Given the description of an element on the screen output the (x, y) to click on. 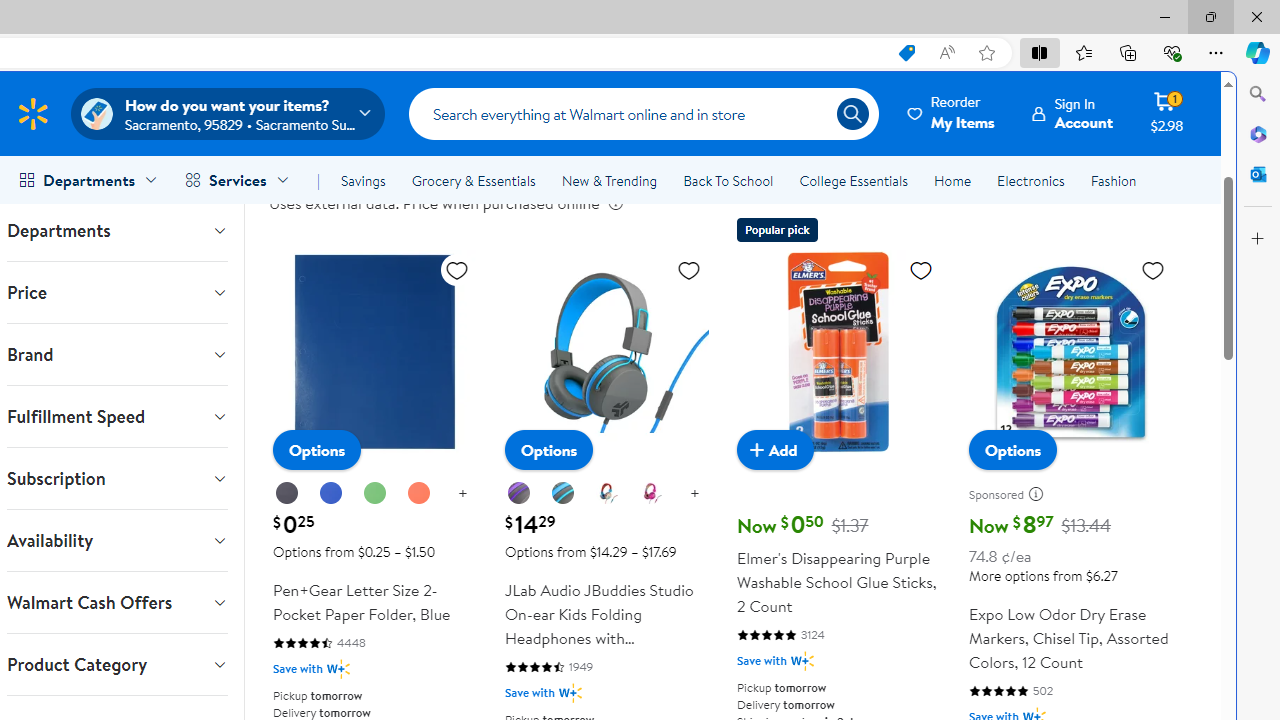
College Essentials (852, 180)
Back To School (728, 180)
Walmart Plus (802, 660)
Black (287, 494)
Green (374, 493)
Graphite Purple (518, 493)
Black (286, 493)
